Given the description of an element on the screen output the (x, y) to click on. 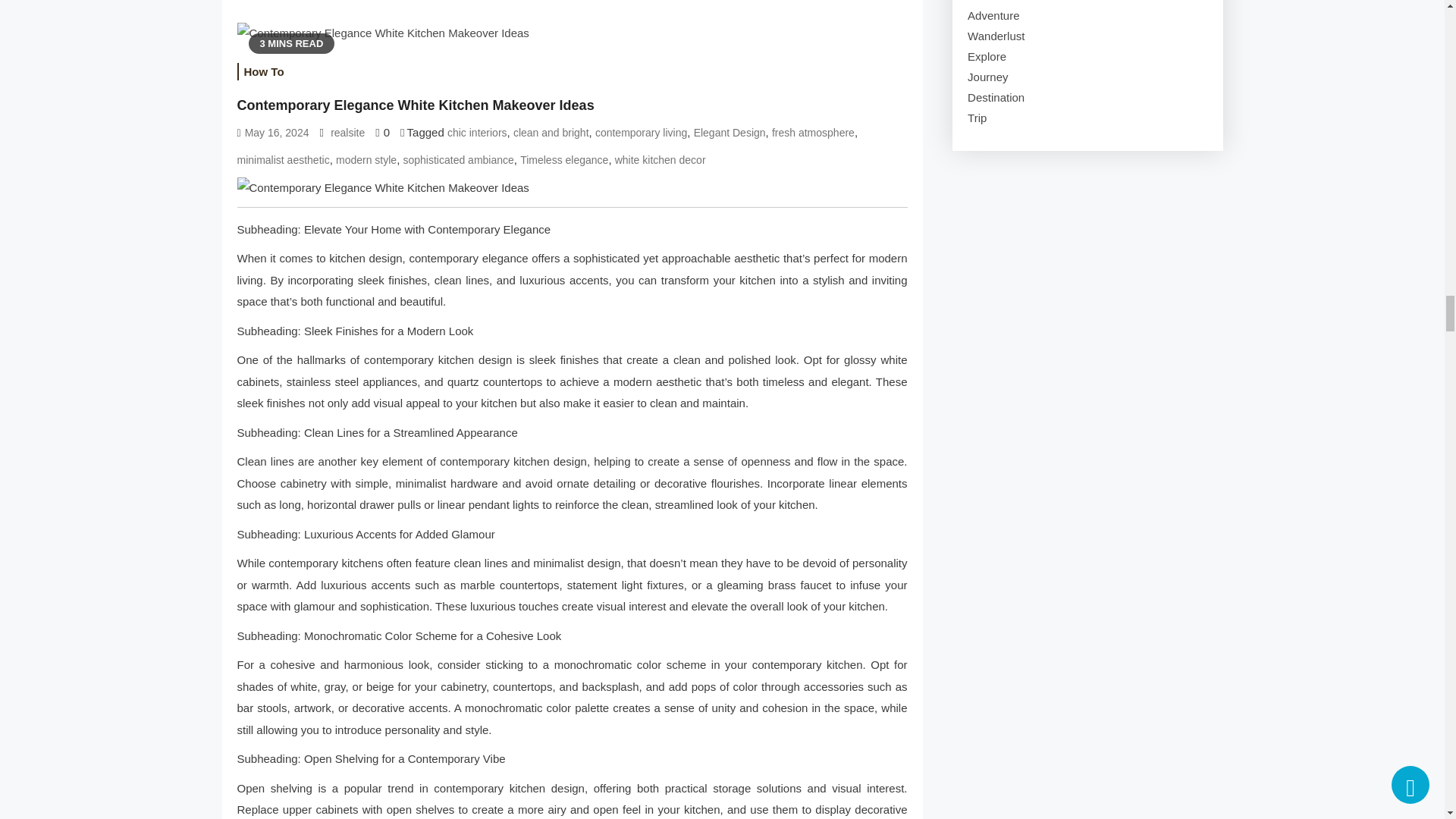
Contemporary Elegance White Kitchen Makeover Ideas (381, 32)
Contemporary Elegance White Kitchen Makeover Ideas (571, 188)
